Given the description of an element on the screen output the (x, y) to click on. 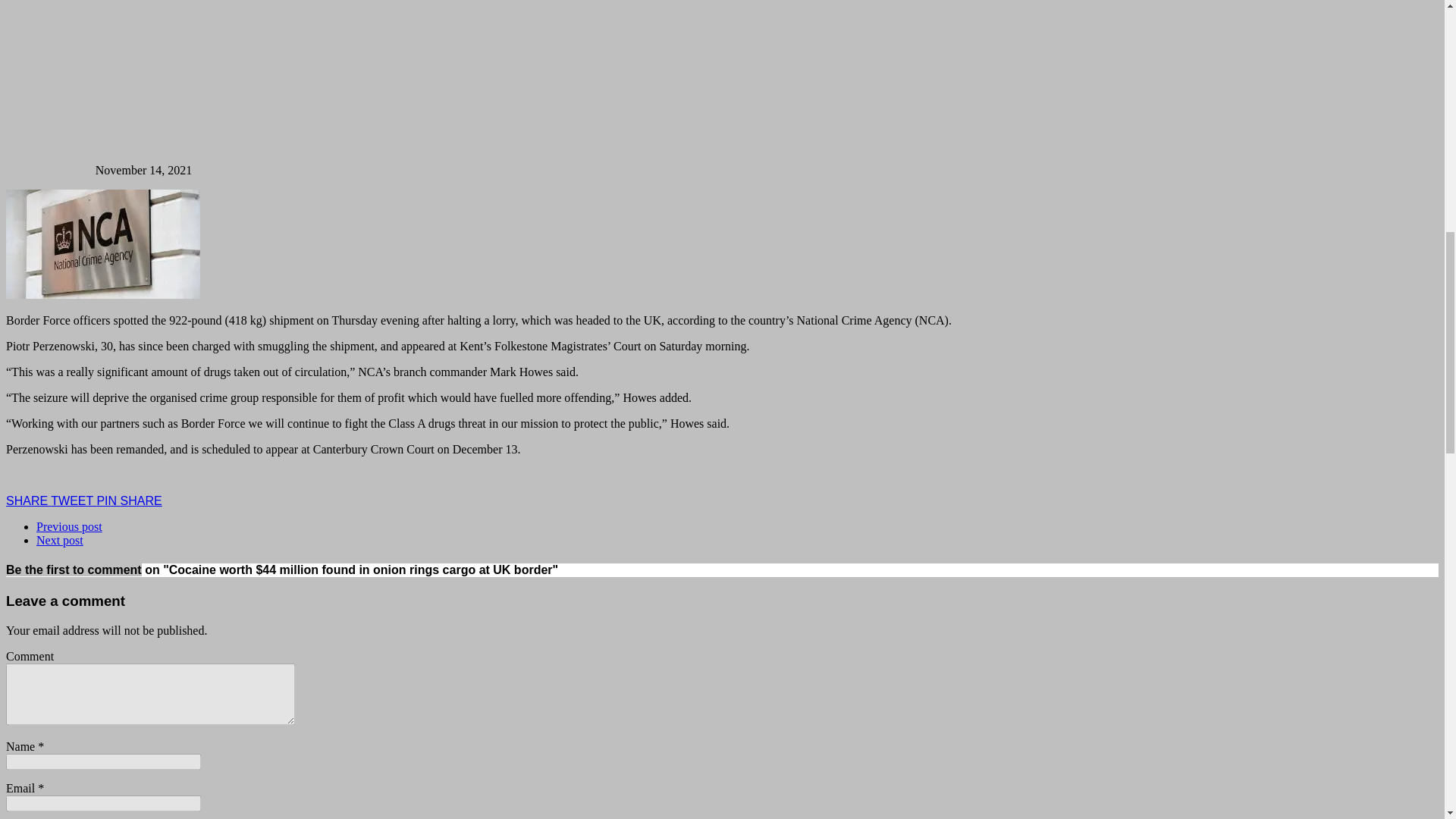
Pin This Post (107, 500)
admin (77, 169)
Next post (59, 540)
Share on Facebook (27, 500)
PIN (107, 500)
Previous post (68, 526)
Tweet This Post (73, 500)
SHARE (27, 500)
Source link (33, 474)
TWEET (73, 500)
